Given the description of an element on the screen output the (x, y) to click on. 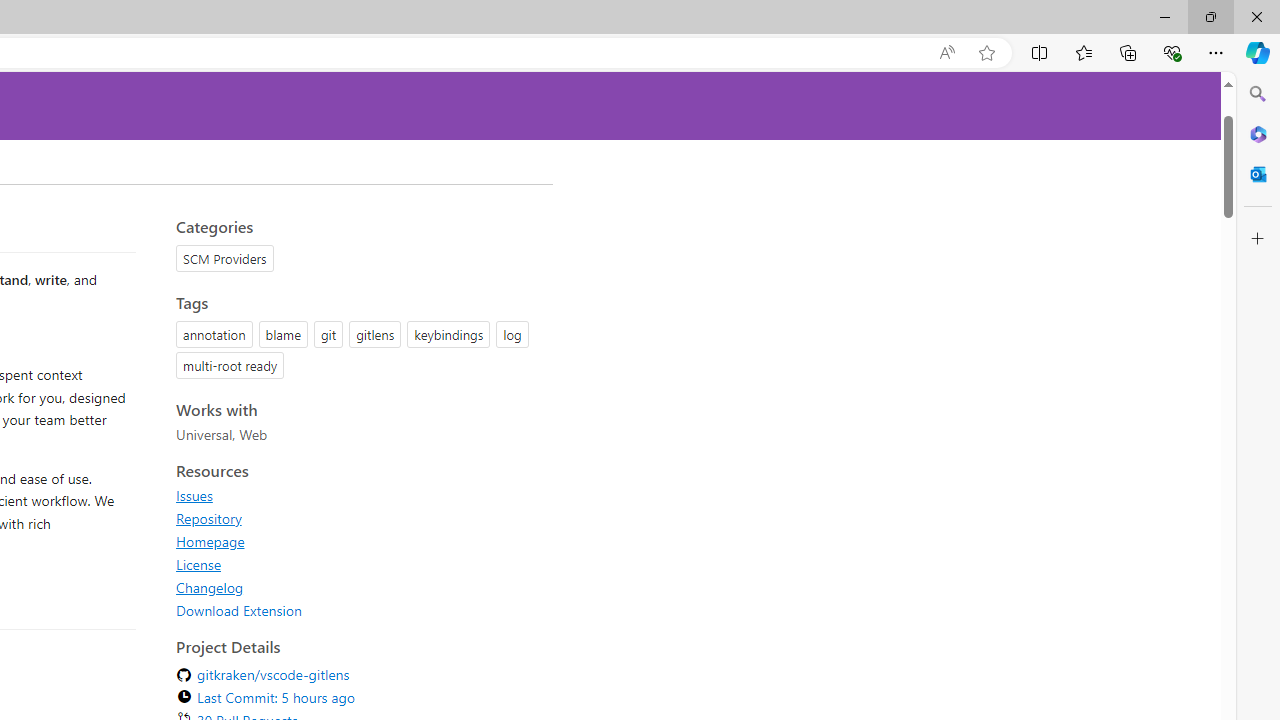
License (198, 564)
